Given the description of an element on the screen output the (x, y) to click on. 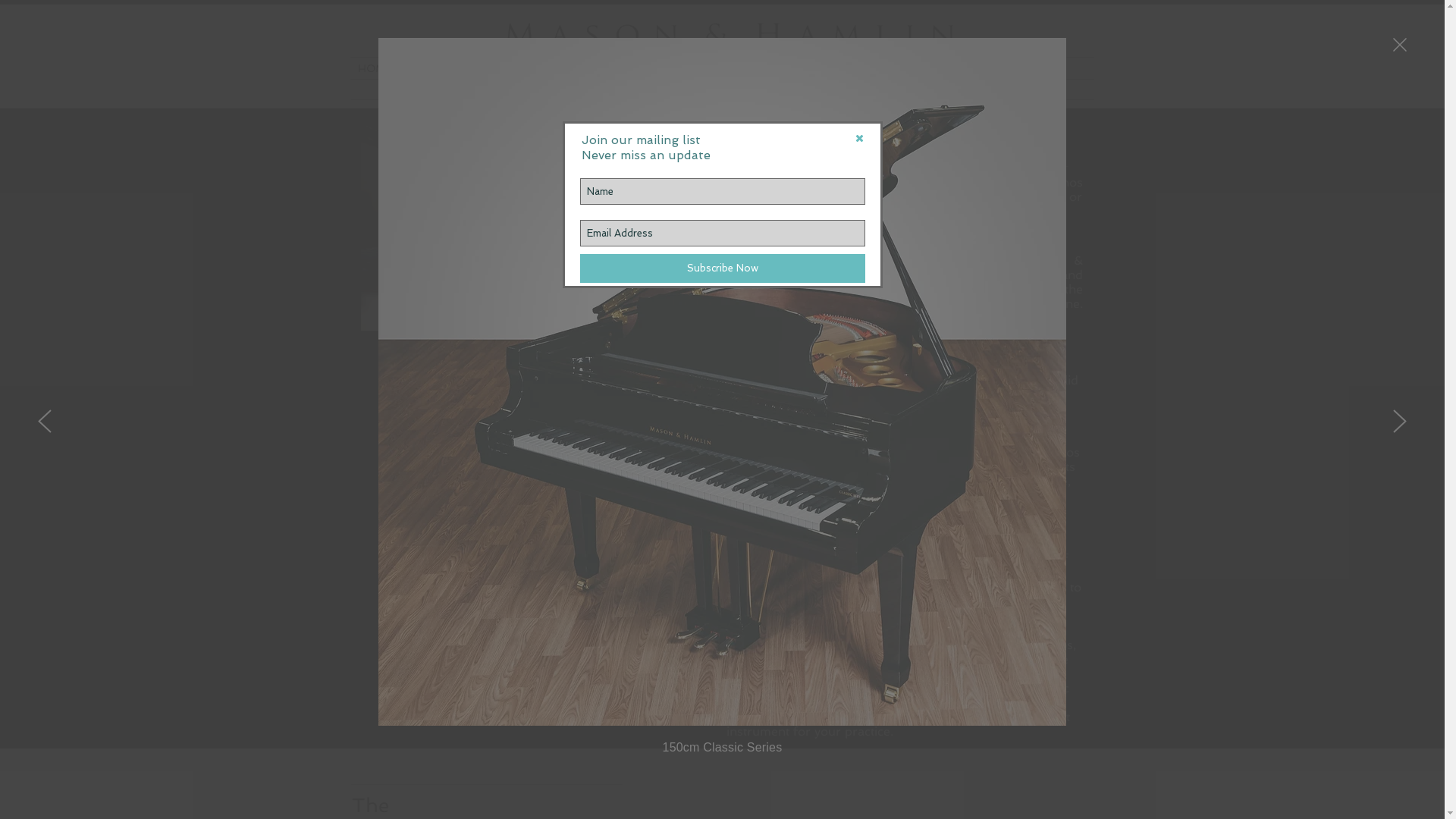
WHY MASON? Element type: text (907, 67)
mhlogonew.png Element type: hover (727, 33)
CONTACT Element type: text (1032, 67)
NEWS Element type: text (661, 67)
Modal Dialog Element type: hover (722, 409)
COLLECTION Element type: text (785, 67)
HISTORY Element type: text (536, 67)
HOME Element type: text (412, 67)
